Given the description of an element on the screen output the (x, y) to click on. 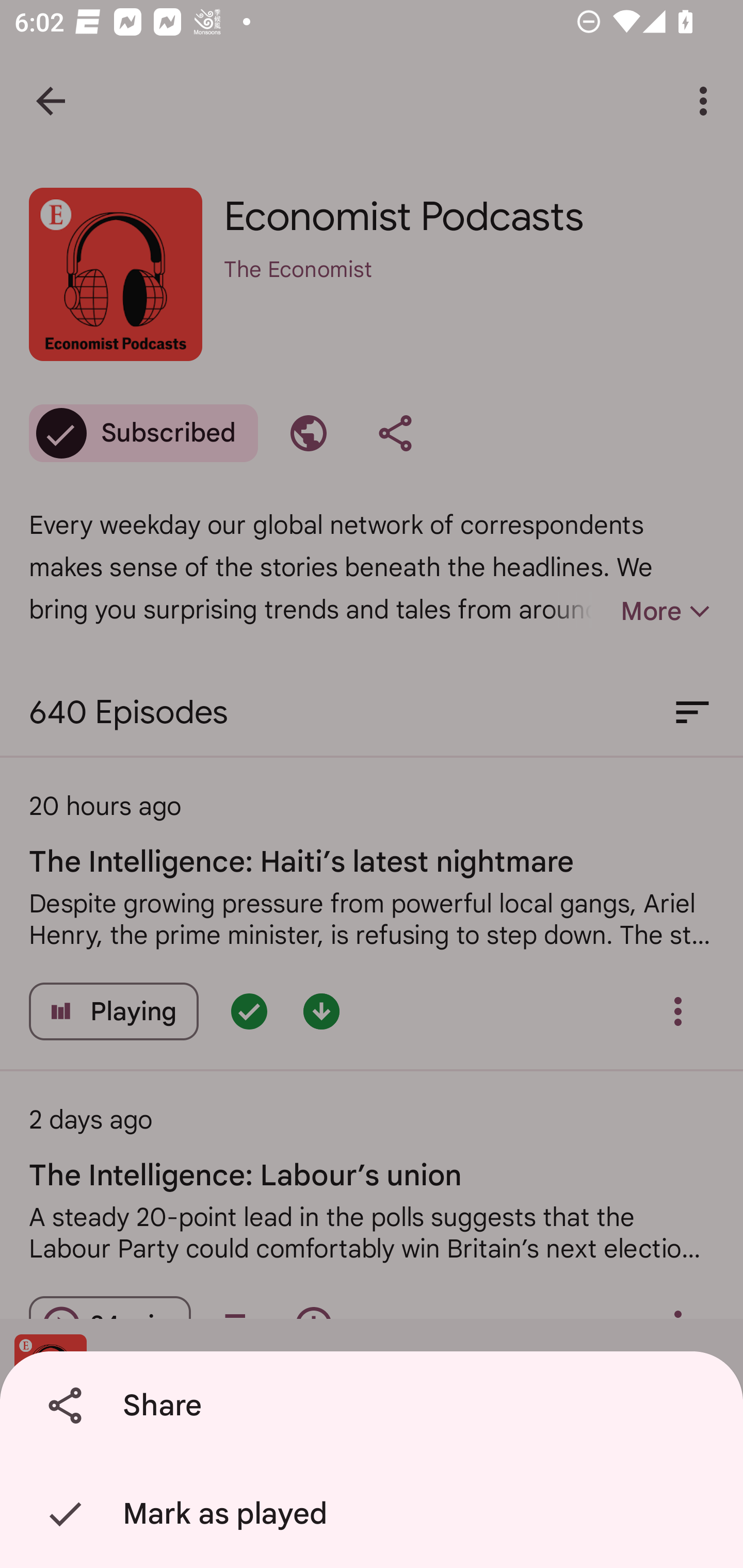
Share (375, 1405)
Mark as played (375, 1513)
